Given the description of an element on the screen output the (x, y) to click on. 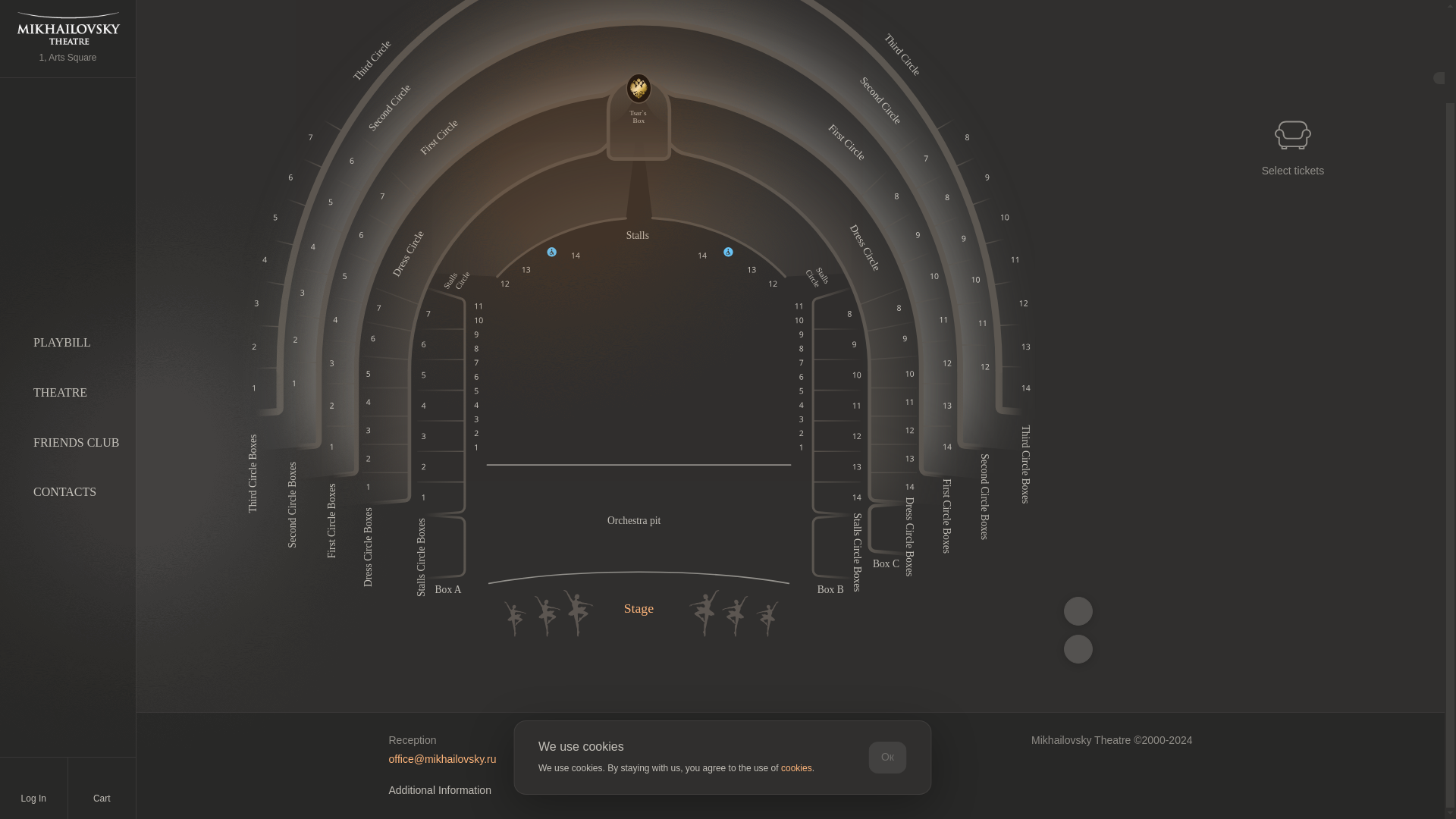
THEATRE (60, 285)
CONTACTS (64, 384)
FRIENDS CLUB (76, 335)
Cart (102, 680)
PLAYBILL (61, 235)
Log In (33, 680)
